Given the description of an element on the screen output the (x, y) to click on. 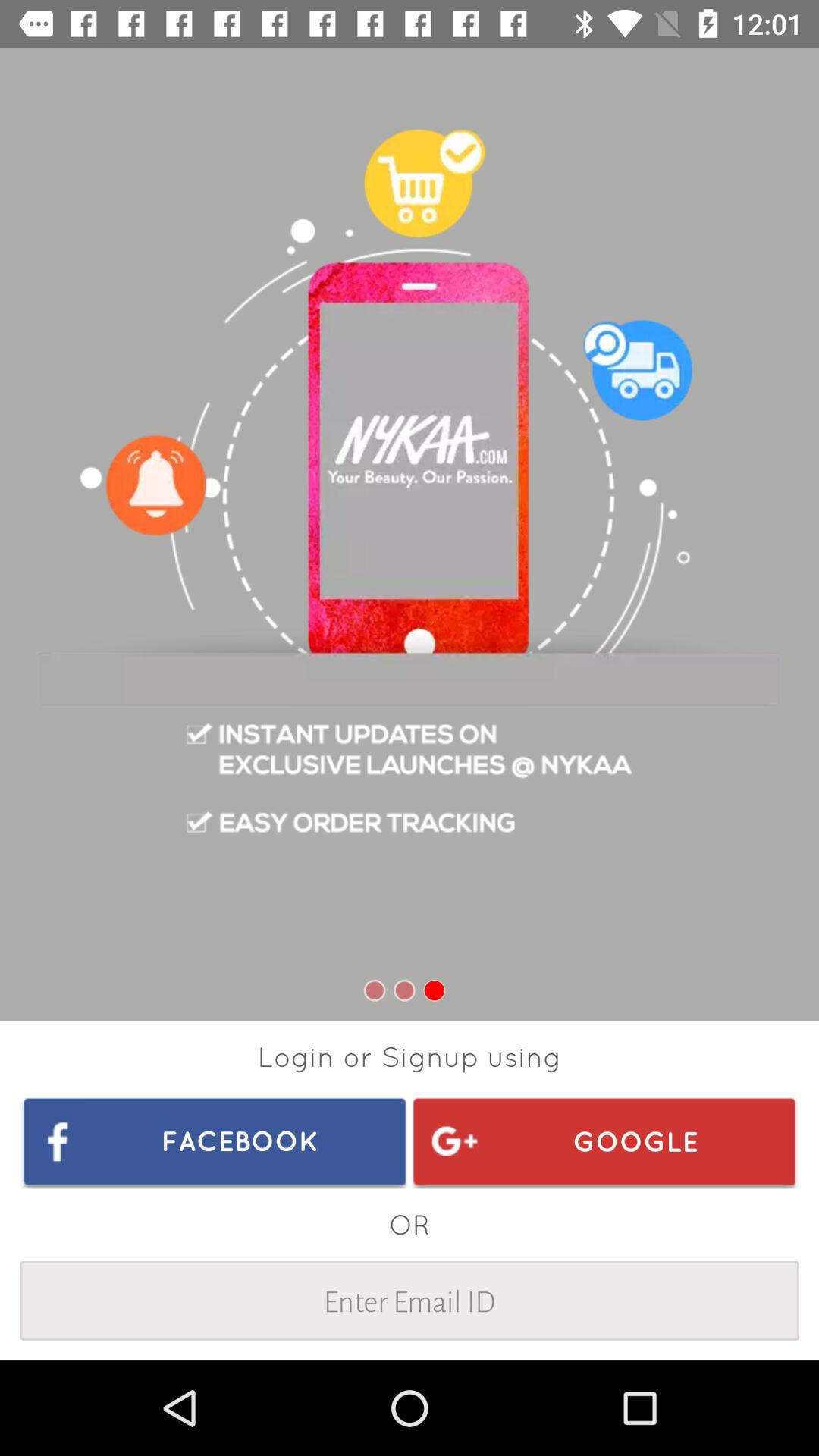
launch icon at the bottom left corner (214, 1140)
